Given the description of an element on the screen output the (x, y) to click on. 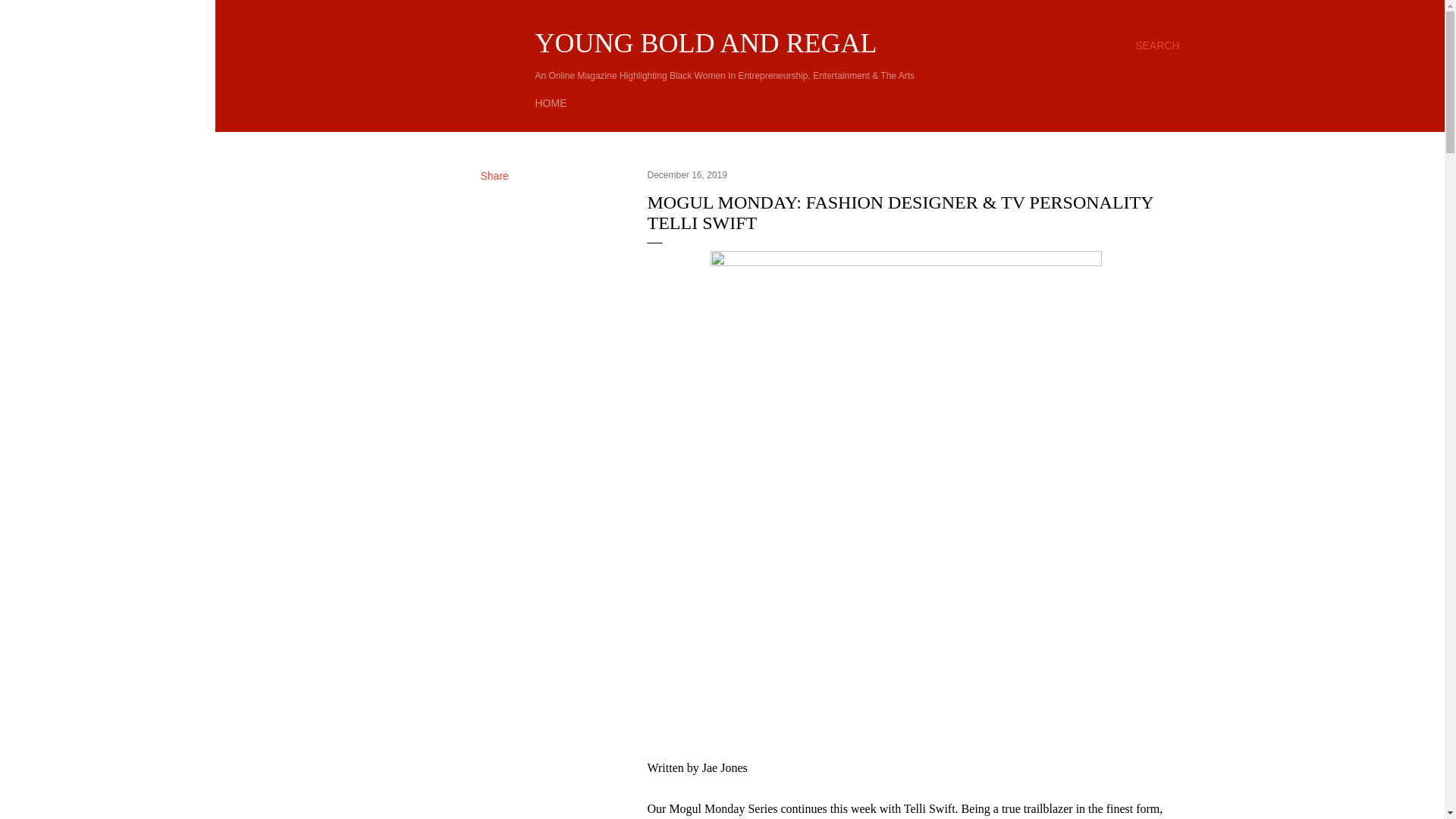
permanent link (686, 174)
Share (494, 175)
SEARCH (1157, 45)
HOME (551, 102)
December 16, 2019 (686, 174)
YOUNG BOLD AND REGAL (706, 42)
